Given the description of an element on the screen output the (x, y) to click on. 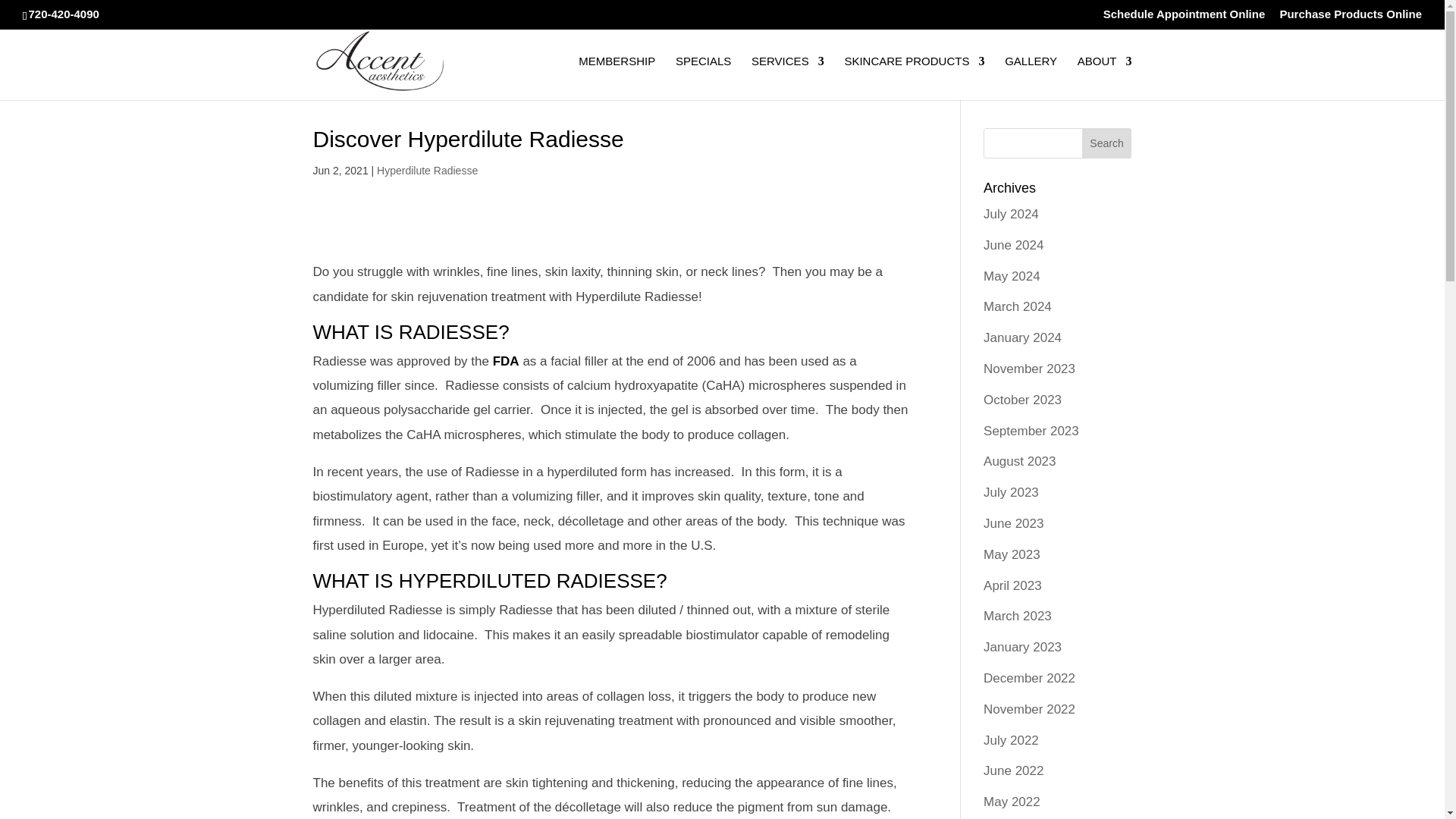
Search (1106, 142)
SERVICES (787, 77)
May 2024 (1012, 276)
ABOUT (1104, 77)
March 2024 (1017, 306)
July 2023 (1011, 492)
Purchase Products Online (1350, 17)
GALLERY (1030, 77)
July 2024 (1011, 214)
Search (1106, 142)
Hyperdilute Radiesse (427, 170)
Schedule Appointment Online (1184, 17)
October 2023 (1022, 400)
MEMBERSHIP (616, 77)
June 2024 (1013, 245)
